Given the description of an element on the screen output the (x, y) to click on. 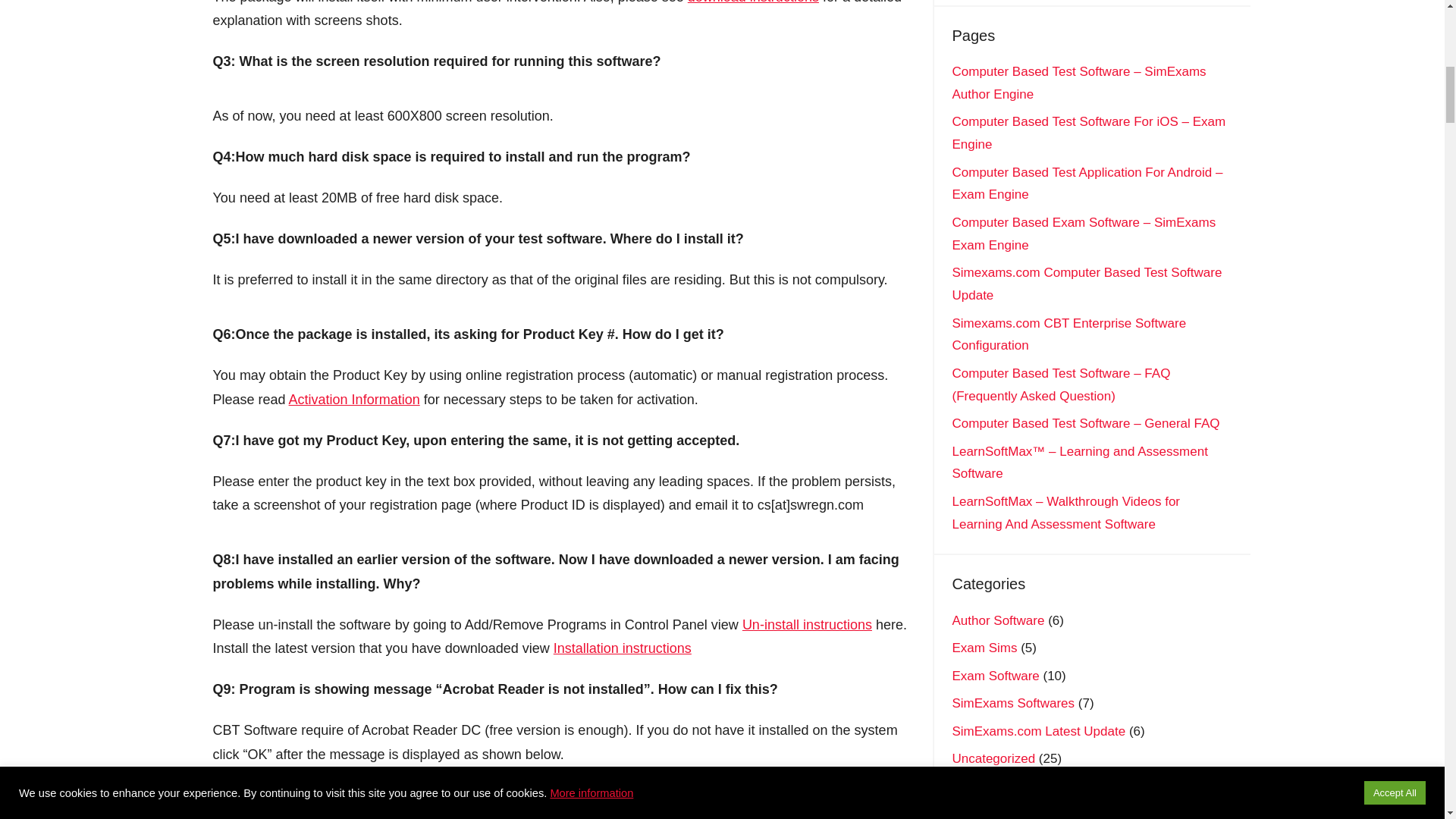
Un-install instructions (807, 624)
Installation instructions (622, 648)
Activation Information (354, 399)
download instructions (752, 2)
